Given the description of an element on the screen output the (x, y) to click on. 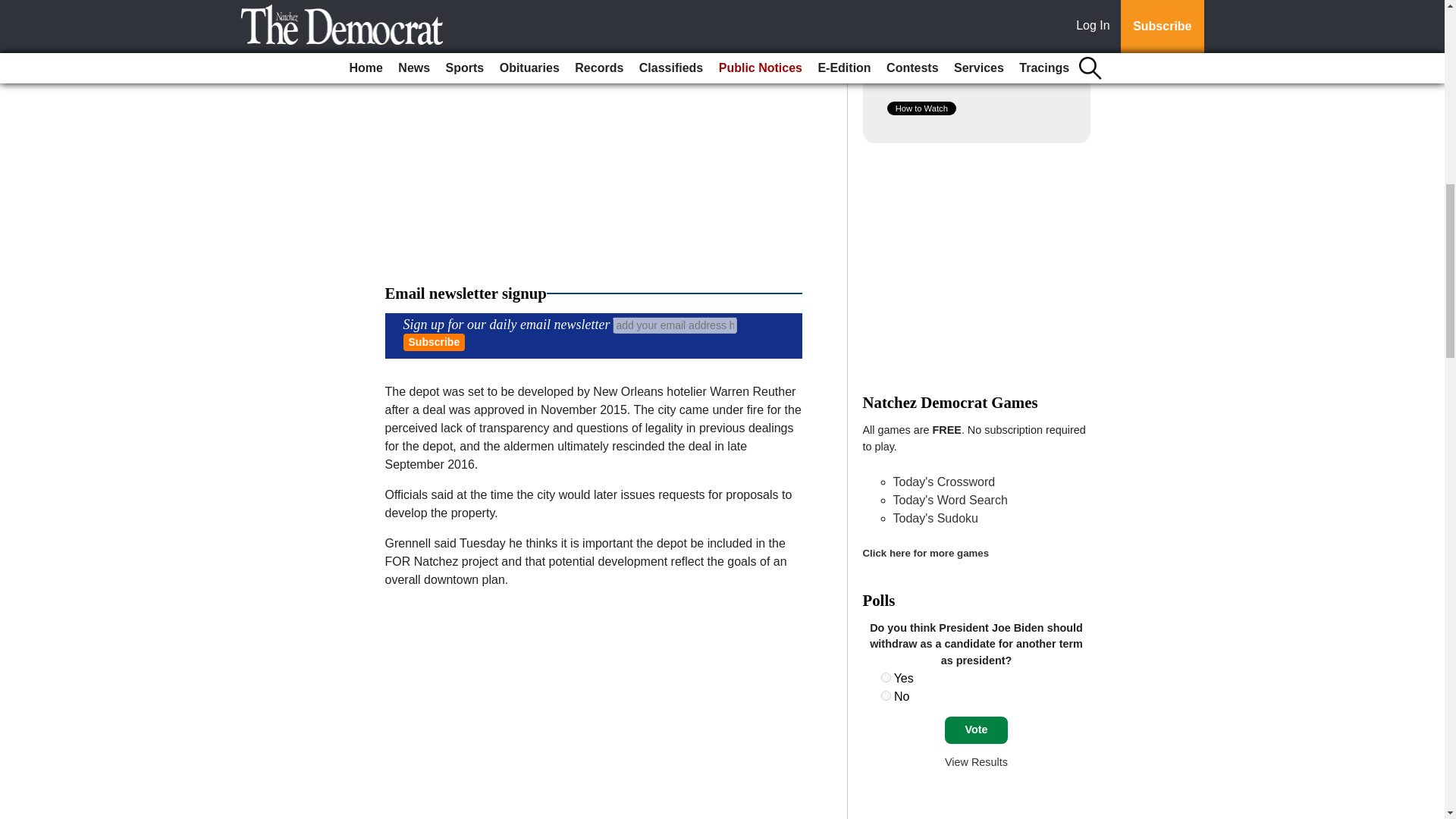
View Results Of This Poll (975, 761)
Subscribe (434, 342)
22423 (885, 677)
Subscribe (434, 342)
   Vote    (975, 729)
22424 (885, 696)
